Given the description of an element on the screen output the (x, y) to click on. 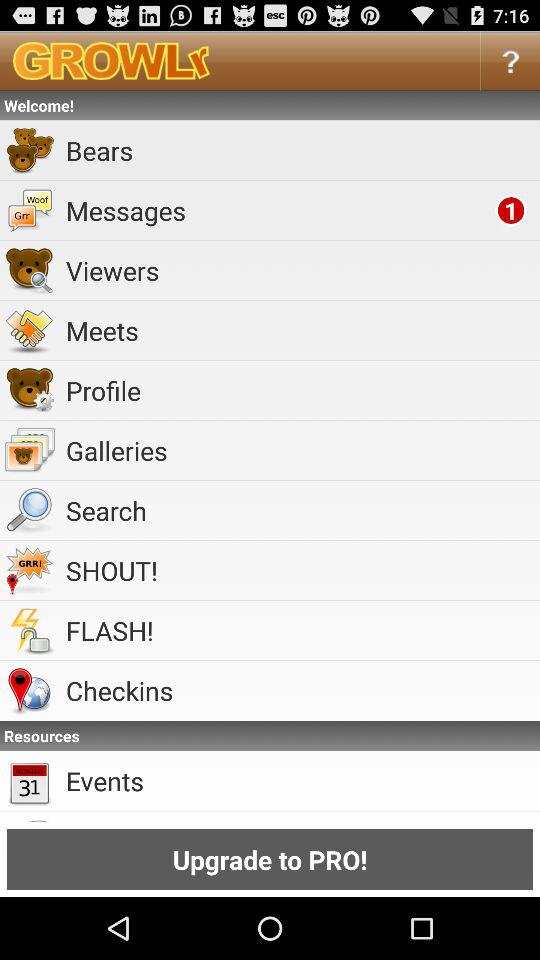
tap item above welcome! item (510, 60)
